Given the description of an element on the screen output the (x, y) to click on. 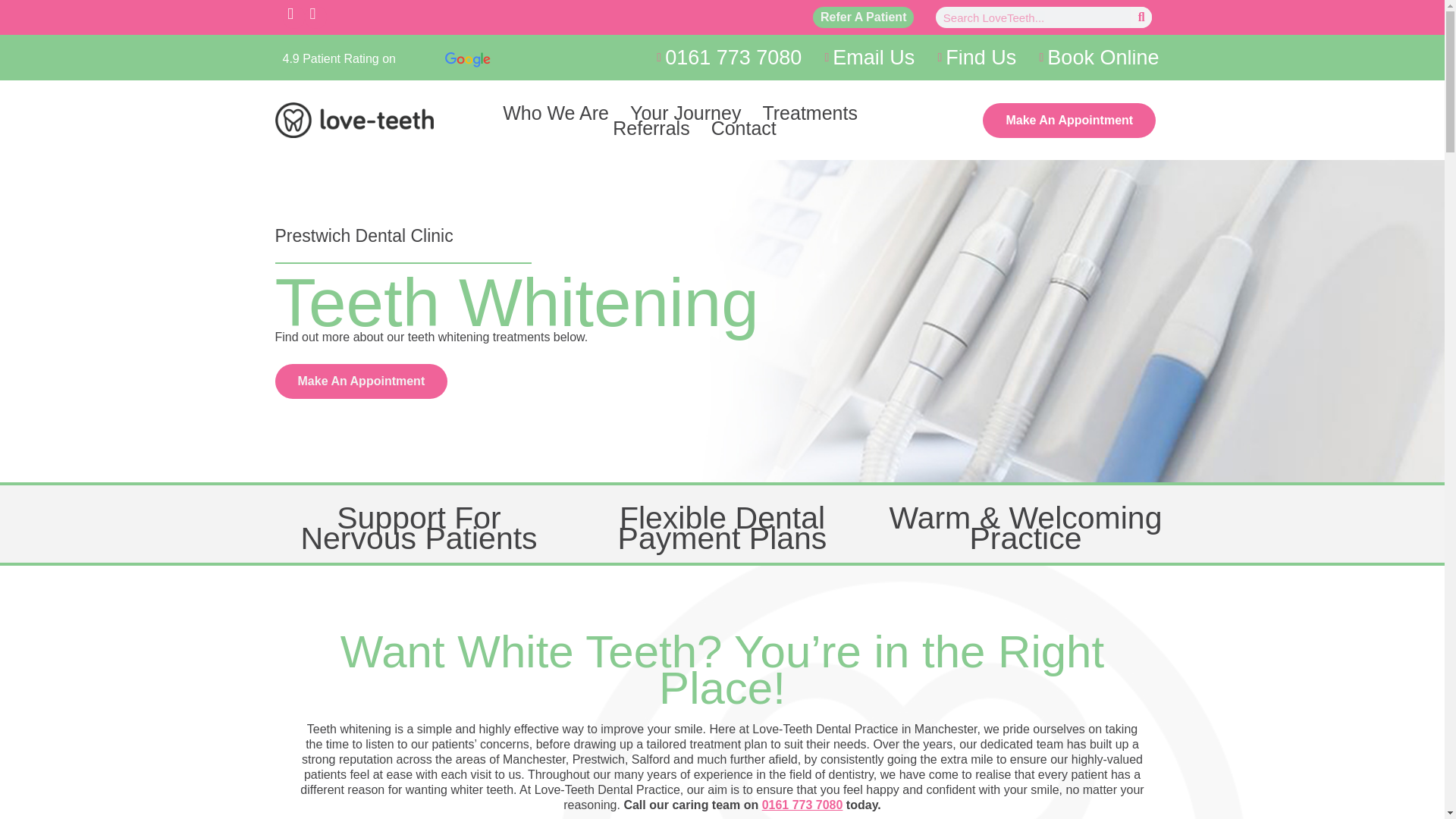
Who We Are (555, 111)
Email Us (863, 57)
Search (1141, 16)
0161 773 7080 (724, 57)
Your Journey (685, 111)
Treatments (812, 111)
Book Online (1092, 57)
Refer A Patient (863, 16)
Find Us (971, 57)
google logo (467, 59)
Facebook (293, 16)
Instagram (315, 16)
loveteeth-header-logo (354, 120)
